Given the description of an element on the screen output the (x, y) to click on. 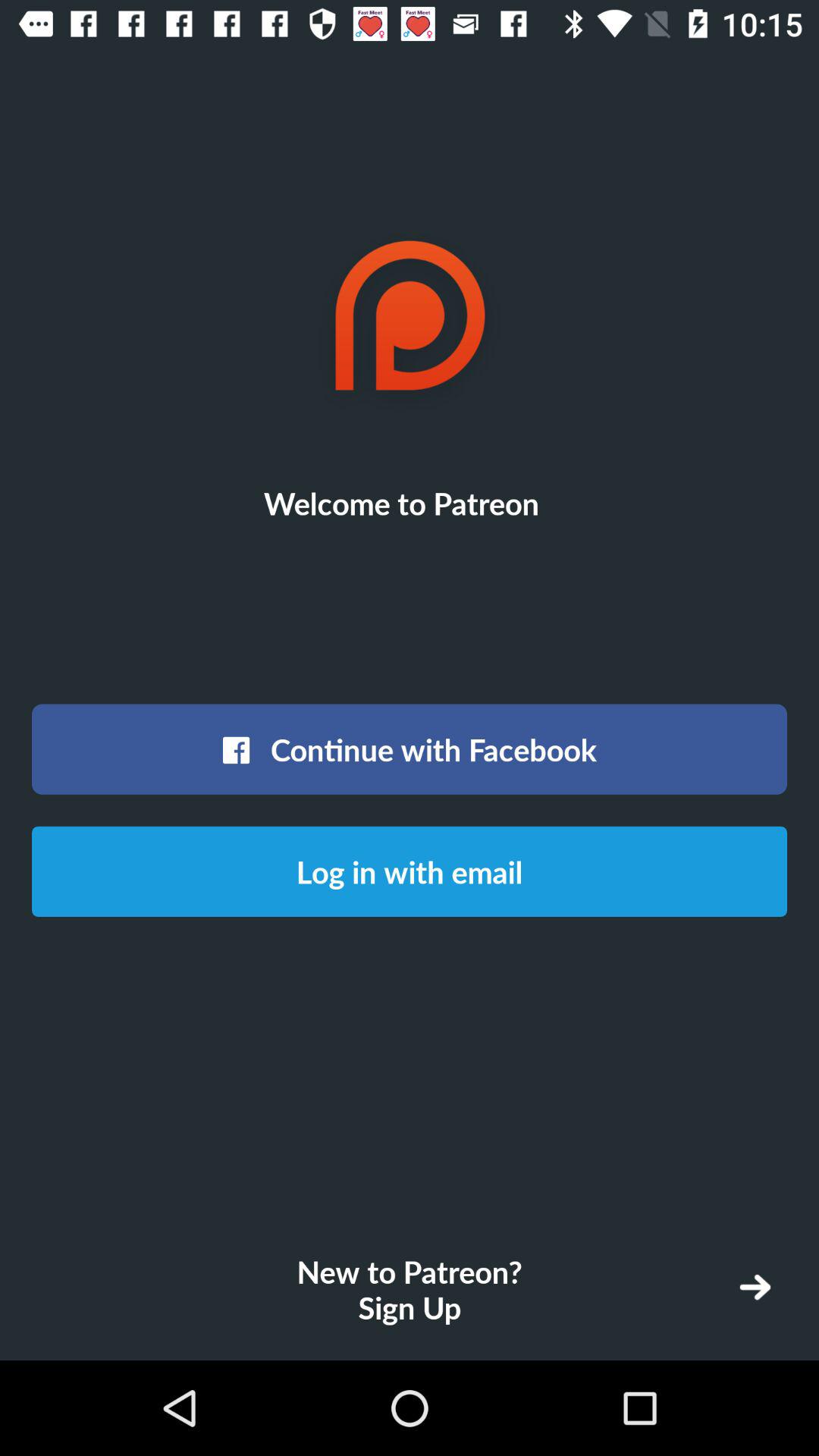
select log in with (409, 871)
